Given the description of an element on the screen output the (x, y) to click on. 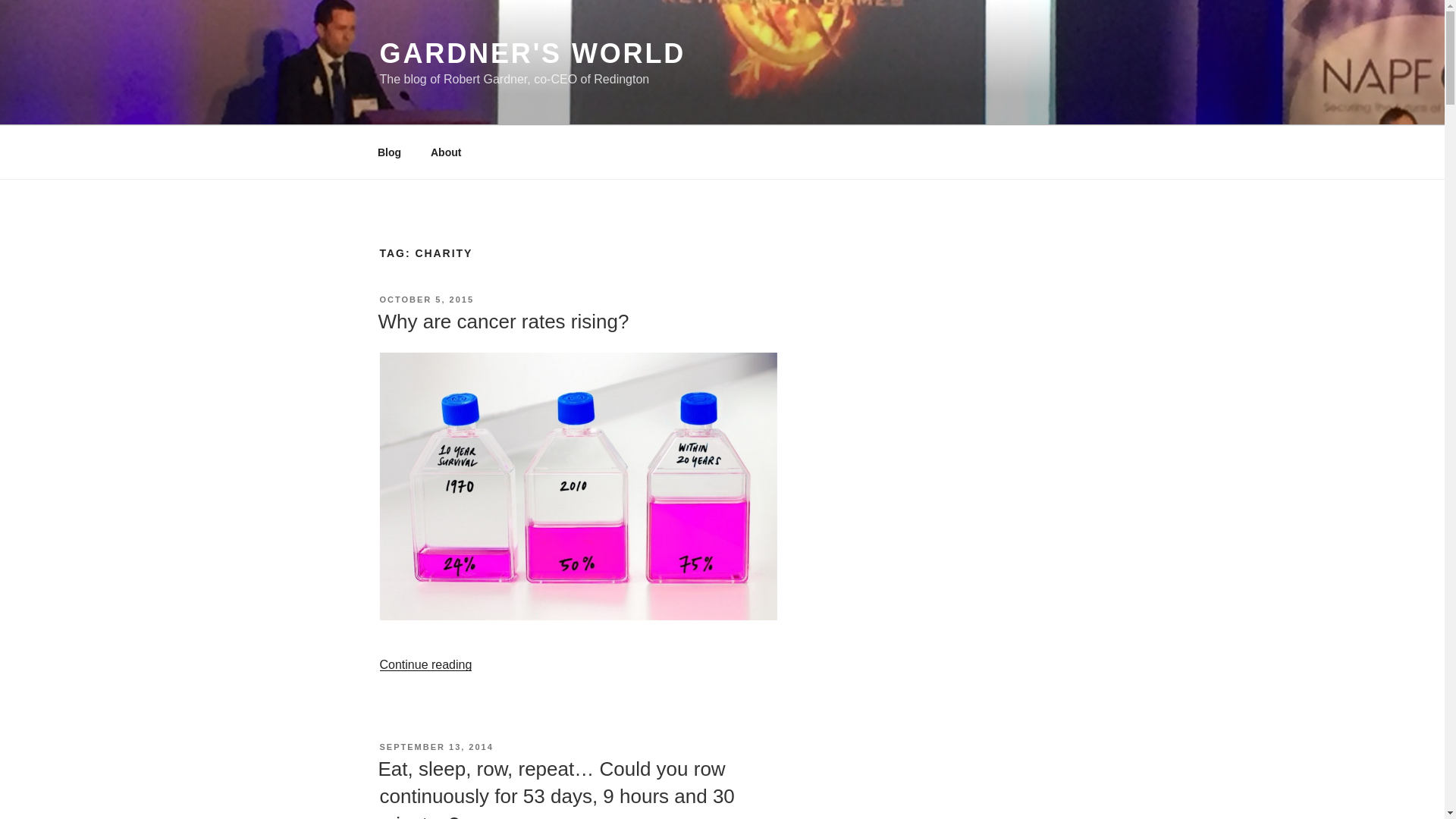
GARDNER'S WORLD (531, 52)
Blog (388, 151)
Why are cancer rates rising? (502, 321)
About (445, 151)
SEPTEMBER 13, 2014 (435, 746)
OCTOBER 5, 2015 (426, 298)
